Given the description of an element on the screen output the (x, y) to click on. 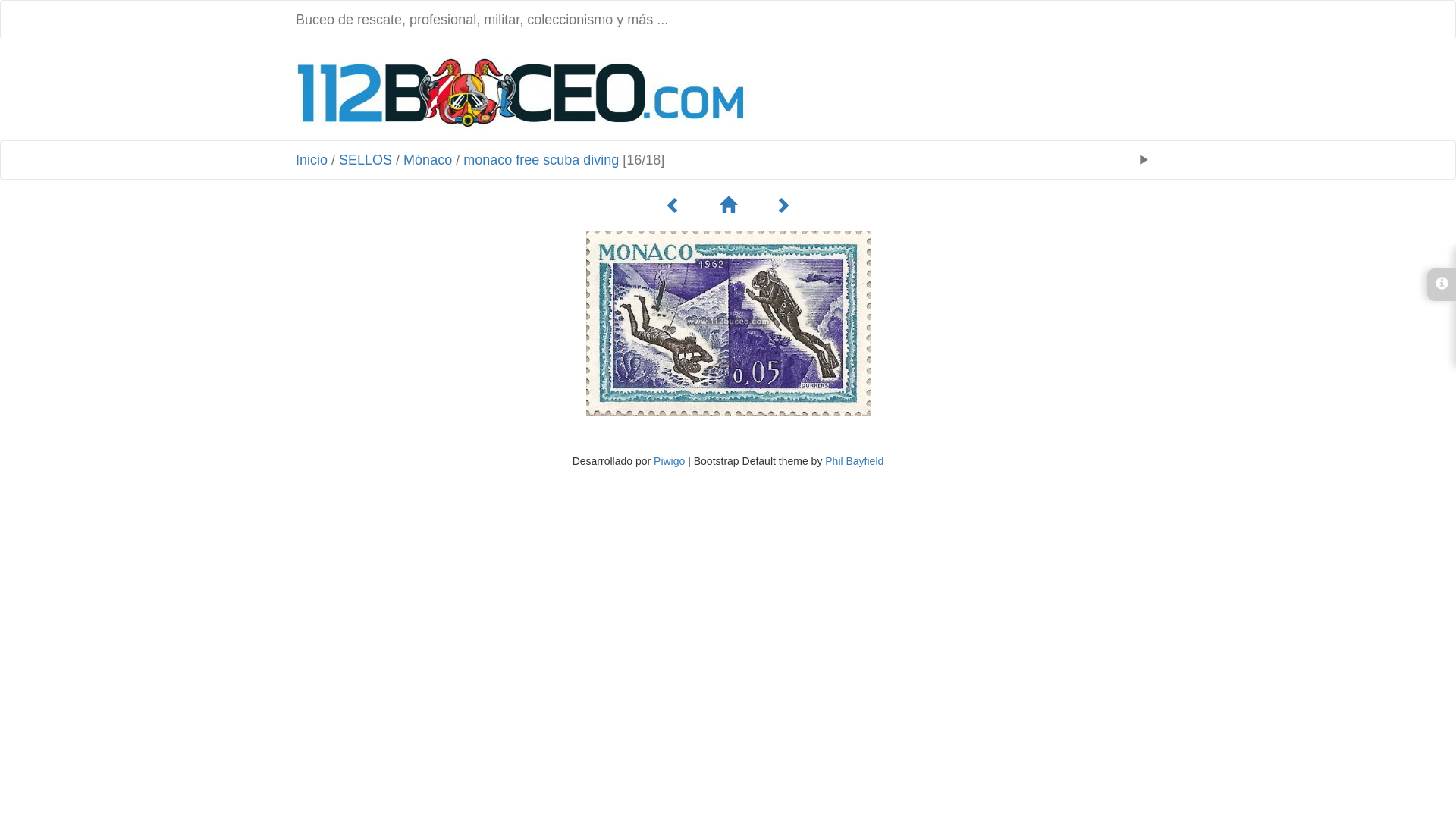
Advertisement Element type: hover (961, 91)
Miniaturas Element type: hover (727, 206)
Piwigo Element type: text (668, 461)
SELLOS Element type: text (365, 159)
Phil Bayfield Element type: text (854, 461)
monaco free scuba diving - monaco_free_scuba_diving.jpg Element type: hover (727, 322)
monaco free scuba diving Element type: text (540, 159)
Slideshow Element type: hover (1143, 159)
Inicio Element type: text (311, 159)
Anterior : monaco klingert 1797 Element type: hover (673, 206)
Siguiente : monaco bathyscaphe alexandre Element type: hover (782, 206)
